Given the description of an element on the screen output the (x, y) to click on. 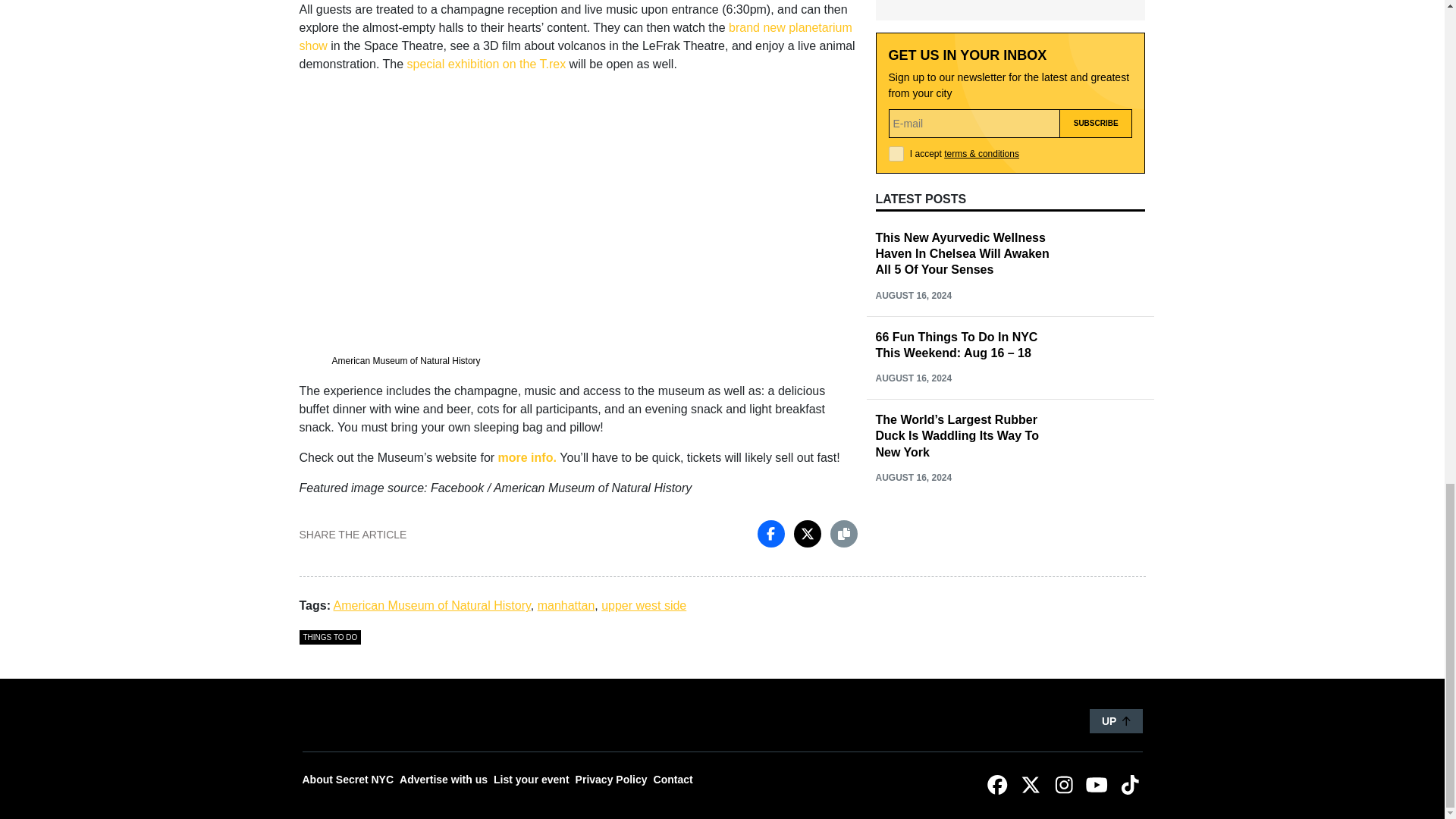
special exhibition on the T.rex (486, 63)
more info. (526, 457)
AUGUST 16, 2024 (913, 196)
AUGUST 16, 2024 (913, 113)
brand new planetarium show (574, 36)
